Given the description of an element on the screen output the (x, y) to click on. 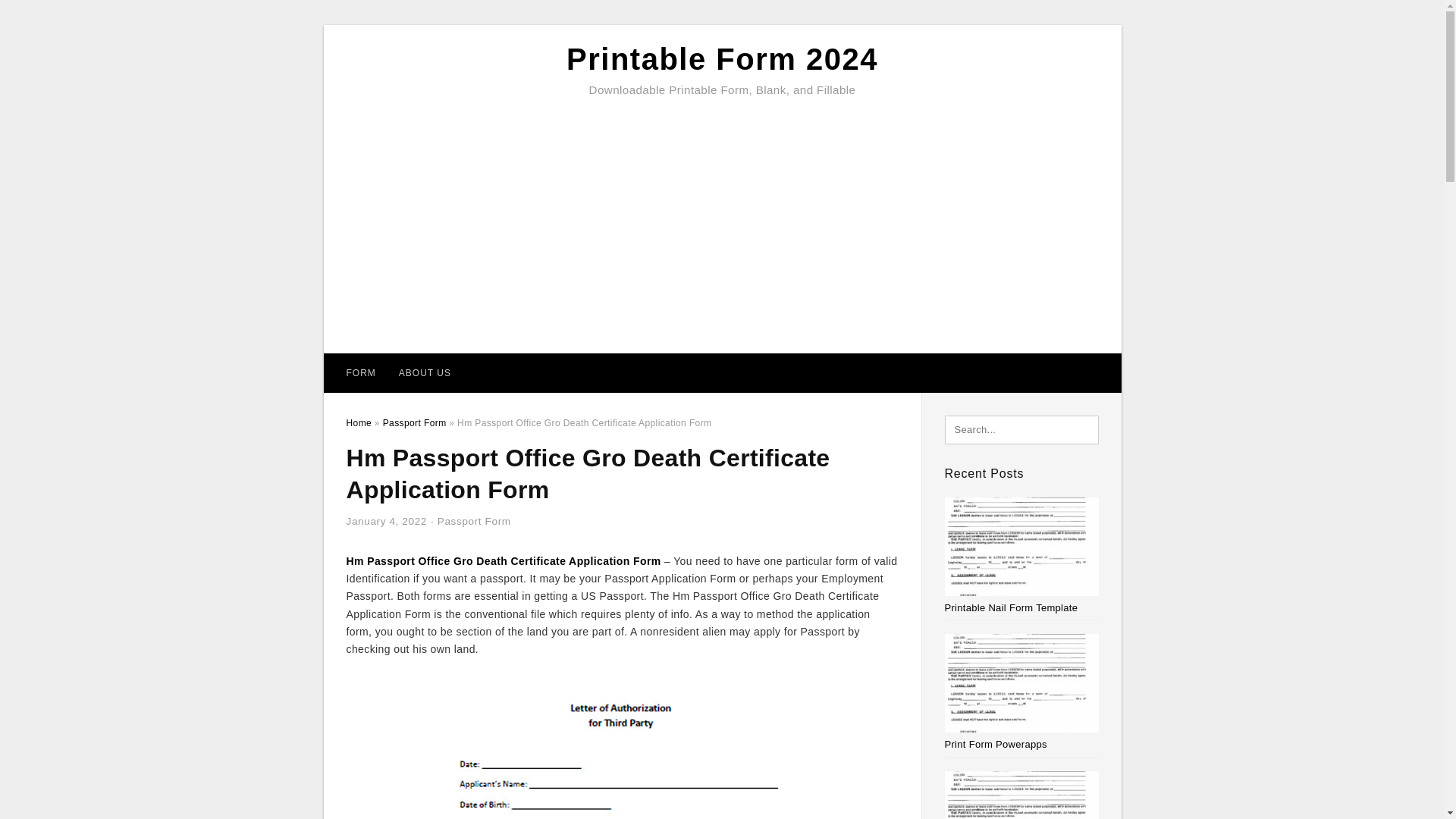
Printable Form 2024 (721, 59)
Print Form Powerapps (995, 744)
FORM (360, 372)
Passport Form (474, 521)
Passport Form (414, 422)
Printable Nail Form Template (1011, 607)
Search (43, 15)
Home (358, 422)
Print Form Powerapps (995, 744)
Search for: (1021, 429)
ABOUT US (425, 372)
Printable Nail Form Template (1011, 607)
Hm Passport Office Gro Death Certificate Application Form (503, 561)
